Given the description of an element on the screen output the (x, y) to click on. 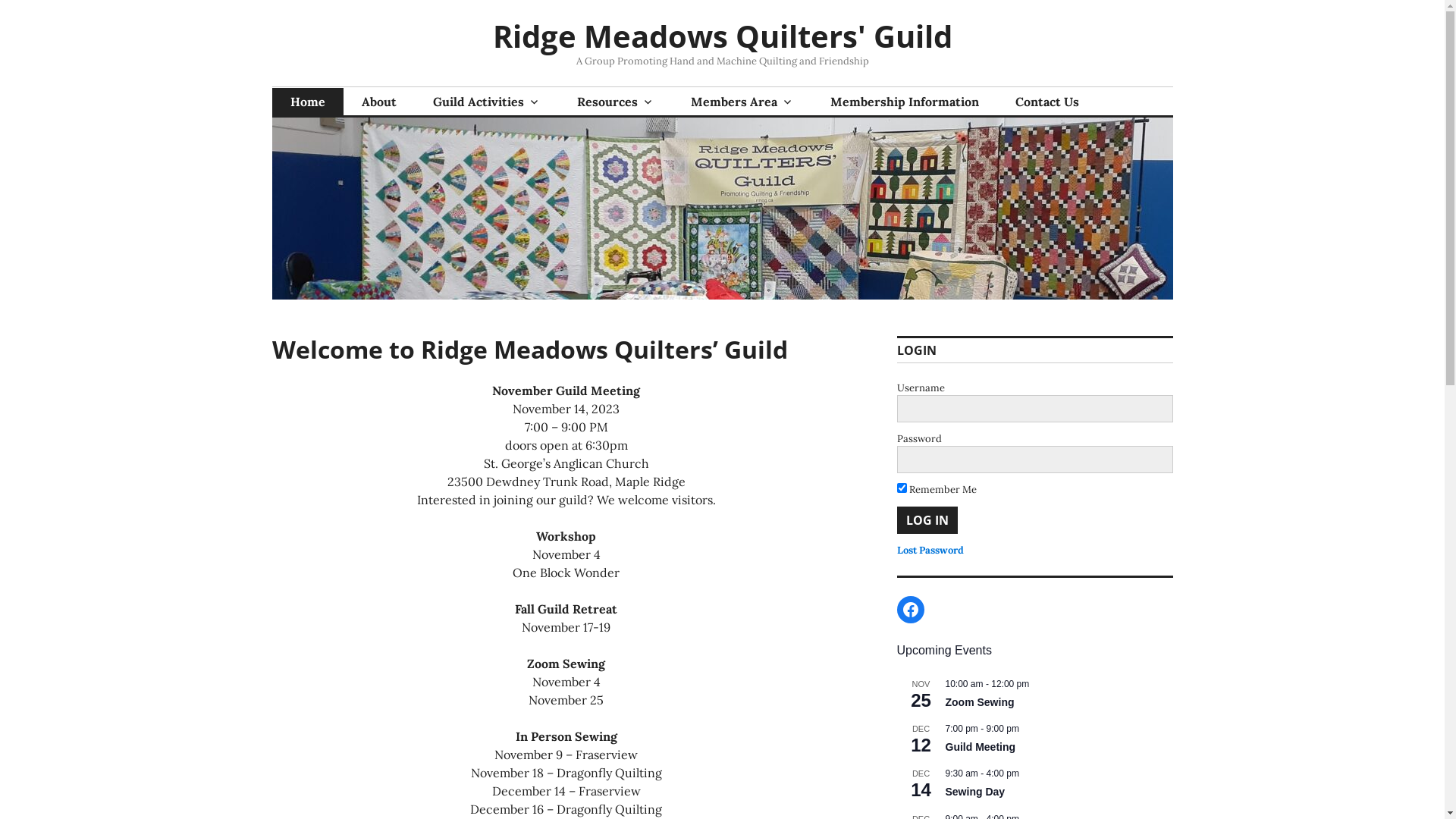
Facebook Element type: text (909, 609)
Membership Information Element type: text (903, 101)
Zoom Sewing Element type: text (978, 702)
Ridge Meadows Quilters' Guild Element type: text (722, 35)
Members Area Element type: text (741, 101)
Lost Password Element type: text (929, 549)
Contact Us Element type: text (1046, 101)
Sewing Day Element type: text (974, 791)
Guild Activities Element type: text (486, 101)
Guild Meeting Element type: text (979, 746)
Log In Element type: text (926, 519)
Resources Element type: text (614, 101)
Home Element type: text (306, 101)
About Element type: text (378, 101)
